Given the description of an element on the screen output the (x, y) to click on. 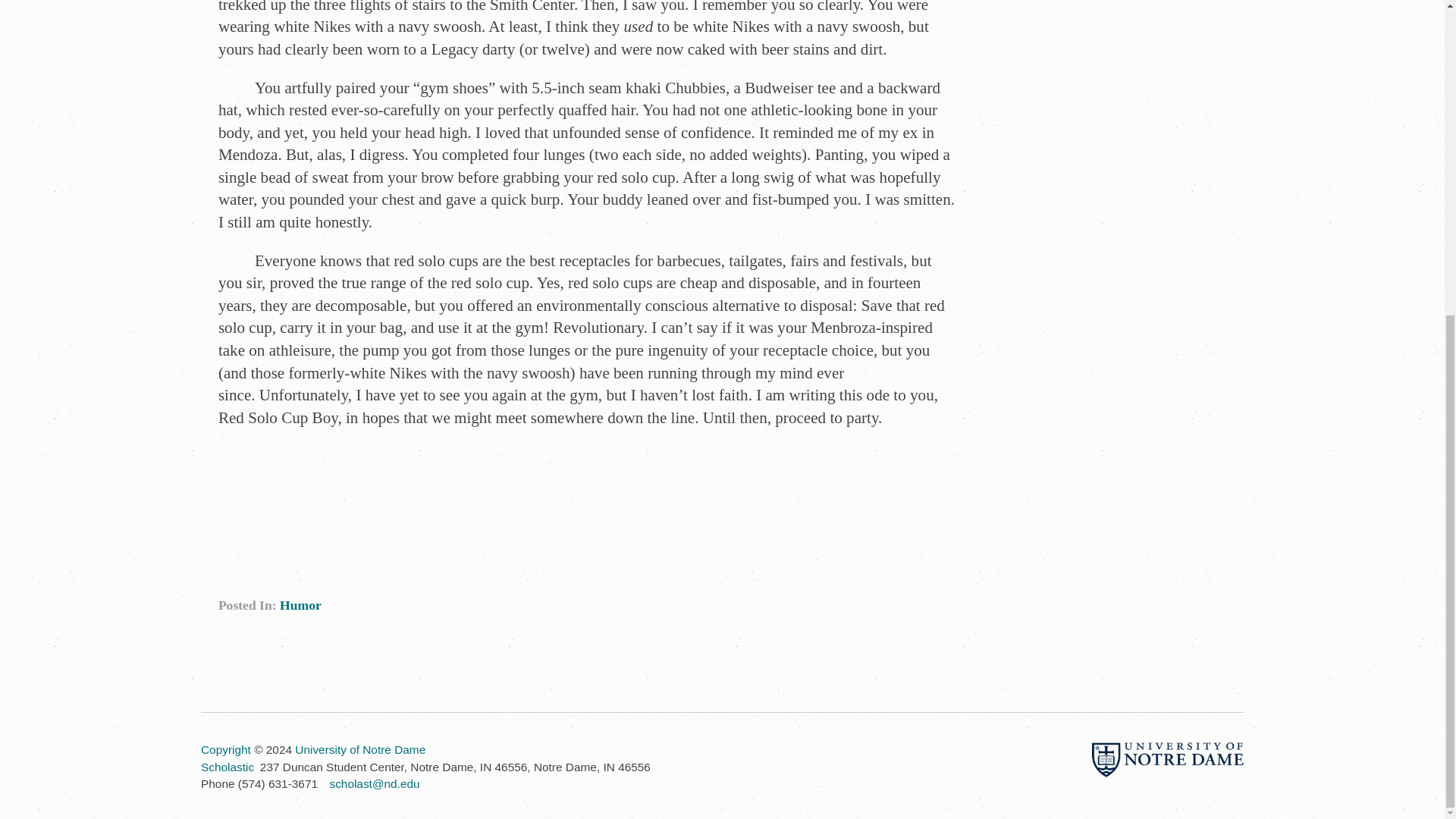
Copyright (225, 748)
University of Notre Dame (360, 748)
Scholastic (226, 767)
Humor (300, 604)
